Given the description of an element on the screen output the (x, y) to click on. 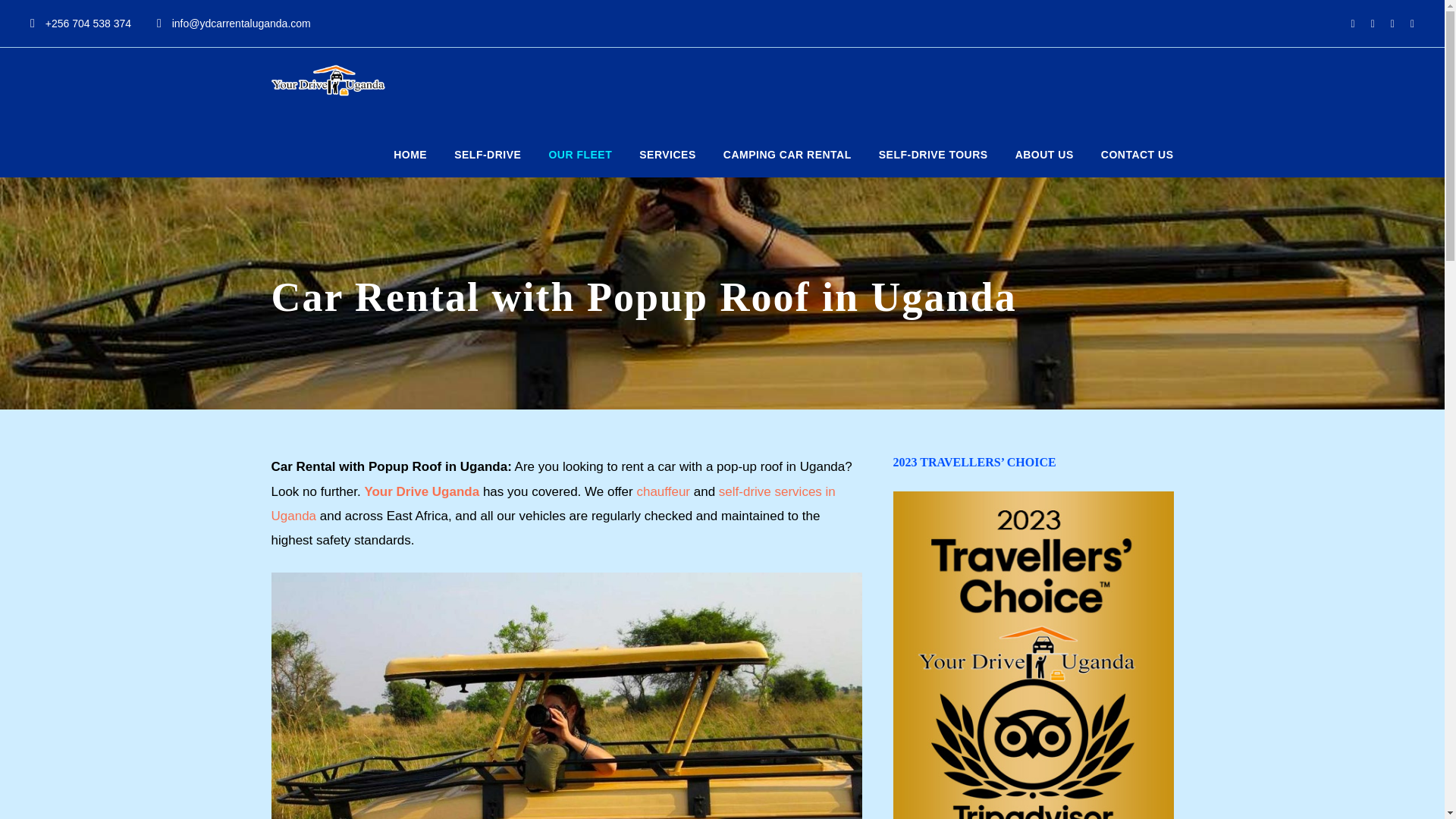
your-drive-uganda-logo (327, 80)
